Given the description of an element on the screen output the (x, y) to click on. 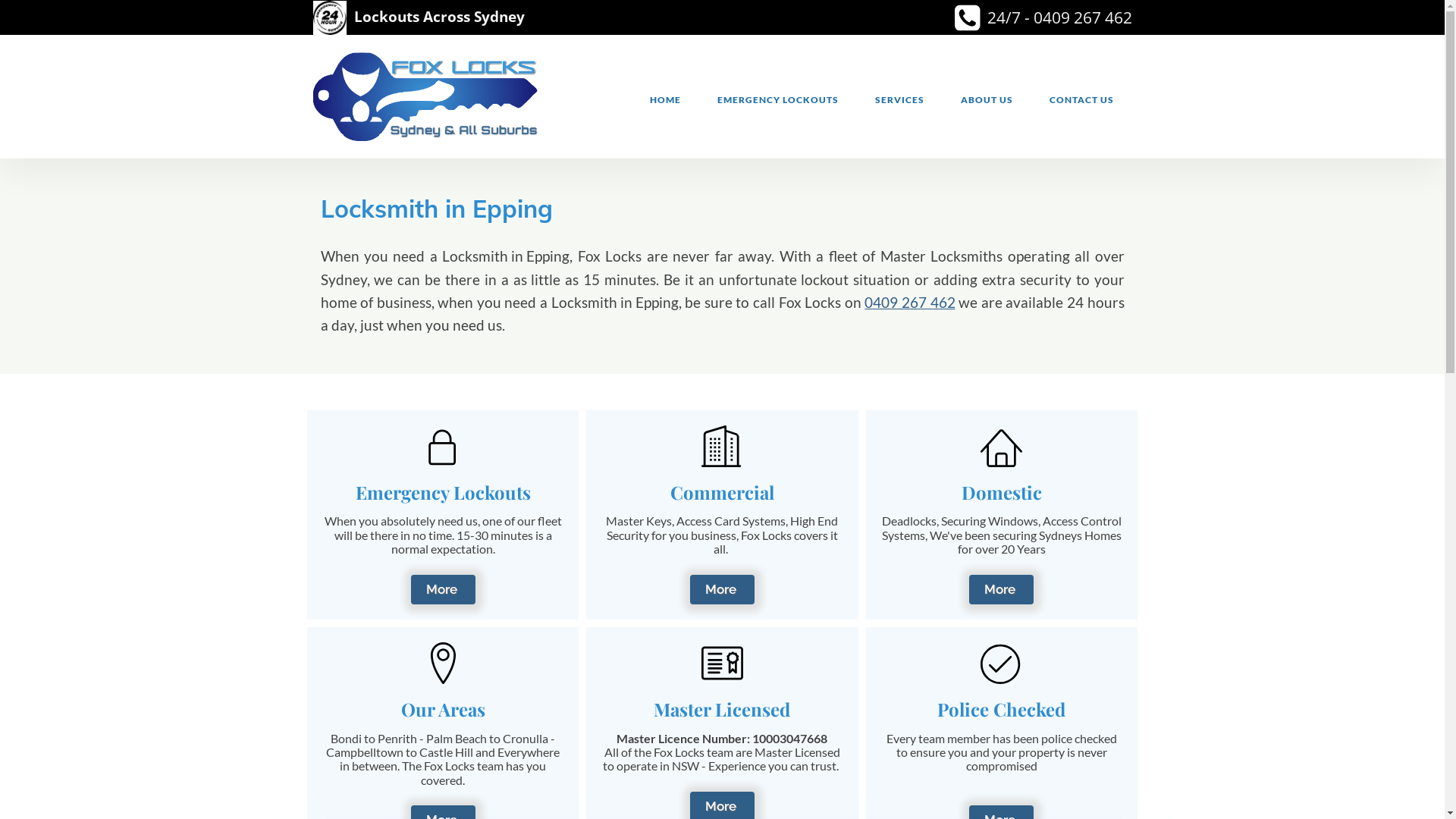
0409 267 462 Element type: text (909, 301)
More  Element type: text (1001, 589)
CONTACT US Element type: text (1081, 99)
HOME Element type: text (664, 99)
EMERGENCY LOCKOUTS Element type: text (777, 99)
 24/7 - 0409 267 462 Element type: text (1056, 17)
SERVICES Element type: text (899, 99)
ABOUT US Element type: text (985, 99)
More  Element type: text (722, 589)
More  Element type: text (443, 589)
